Given the description of an element on the screen output the (x, y) to click on. 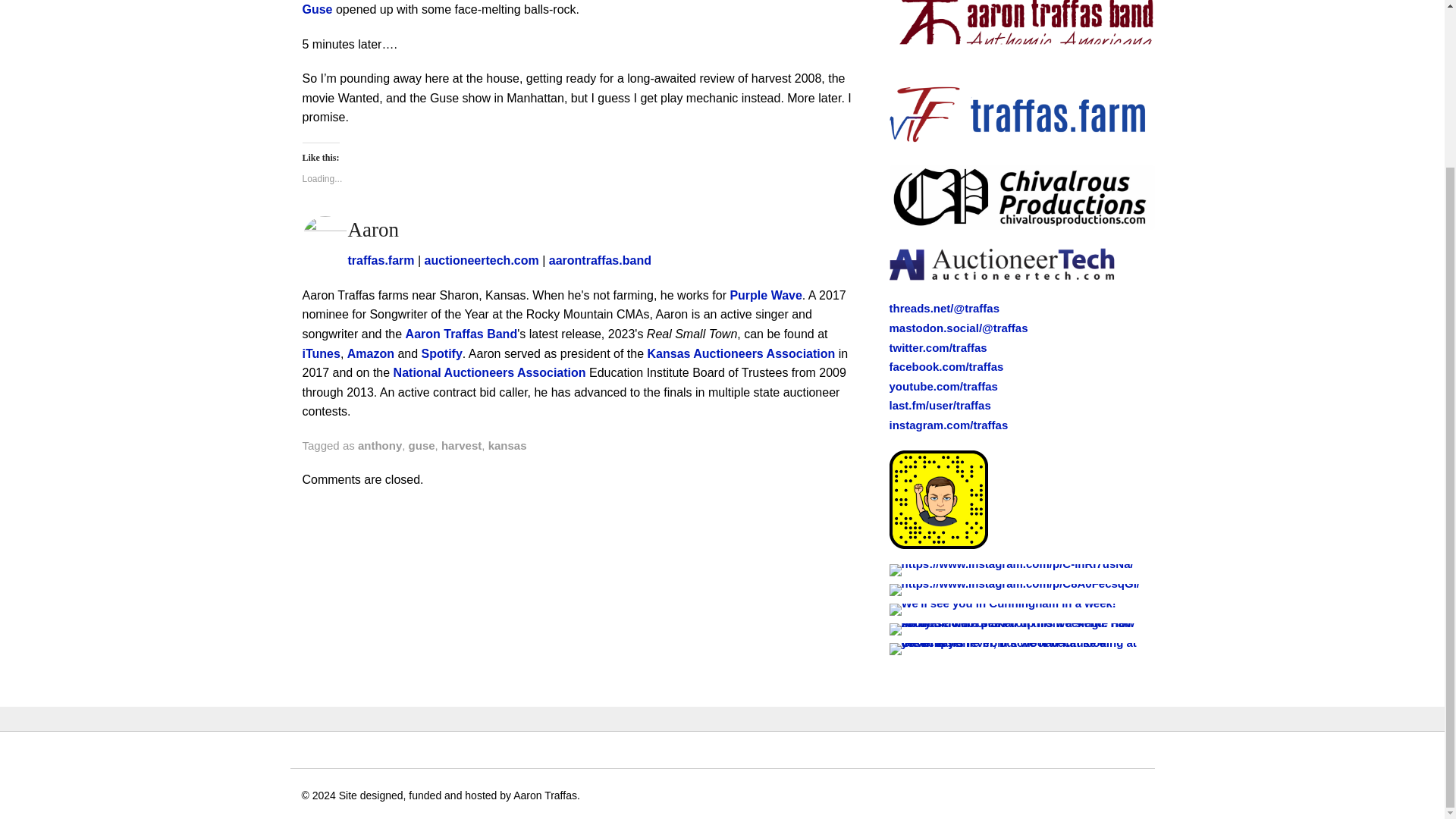
National Auctioneers Association (489, 372)
Guse (316, 9)
Kansas Auctioneers Association (741, 353)
harvest (461, 445)
traffas.farm (380, 259)
kansas (507, 445)
Spotify (442, 353)
iTunes (320, 353)
Purple Wave (765, 295)
Amazon (370, 353)
